Given the description of an element on the screen output the (x, y) to click on. 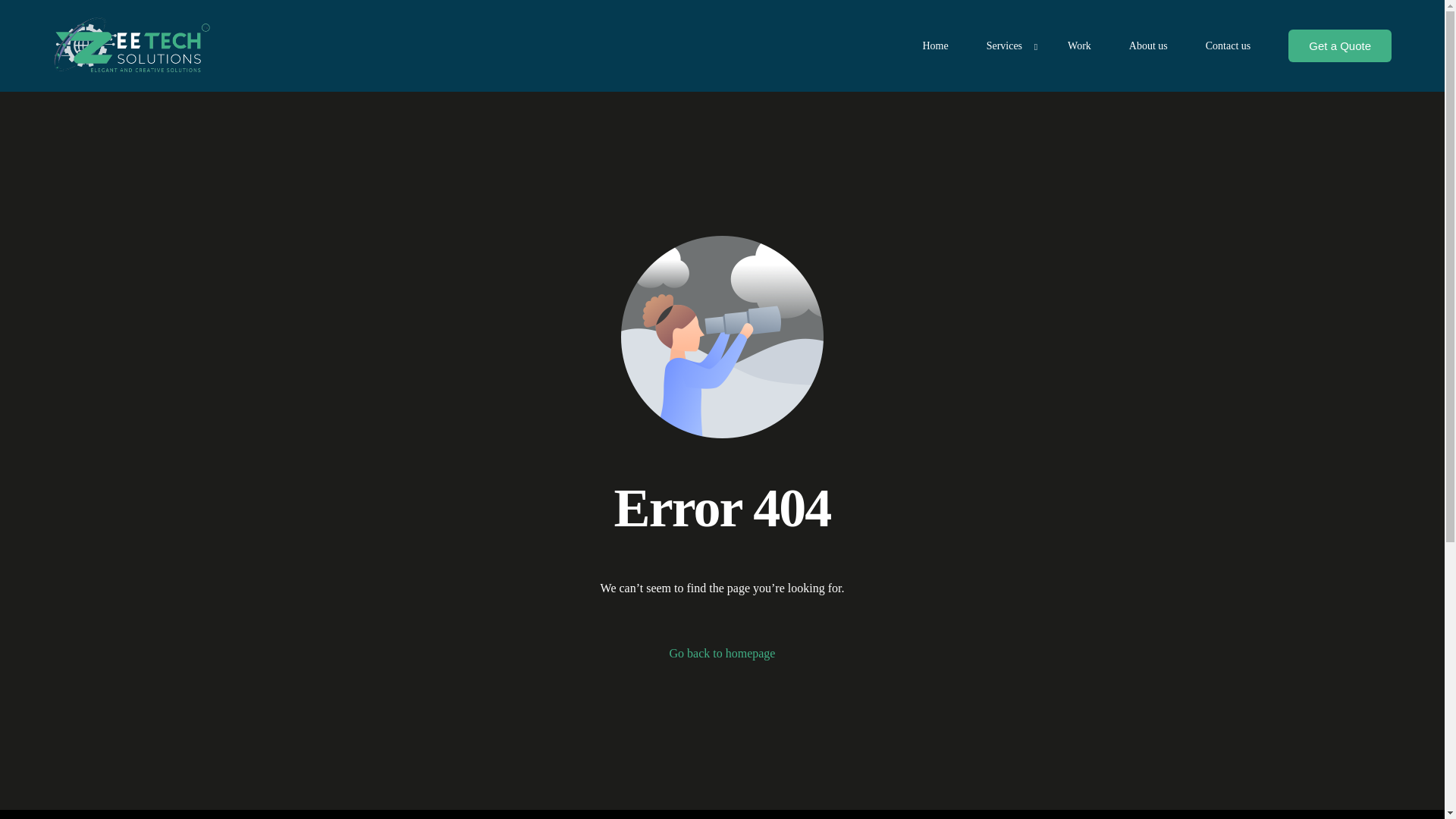
Go back to homepage (722, 653)
Get a Quote (1339, 45)
Contact us (1227, 45)
